Given the description of an element on the screen output the (x, y) to click on. 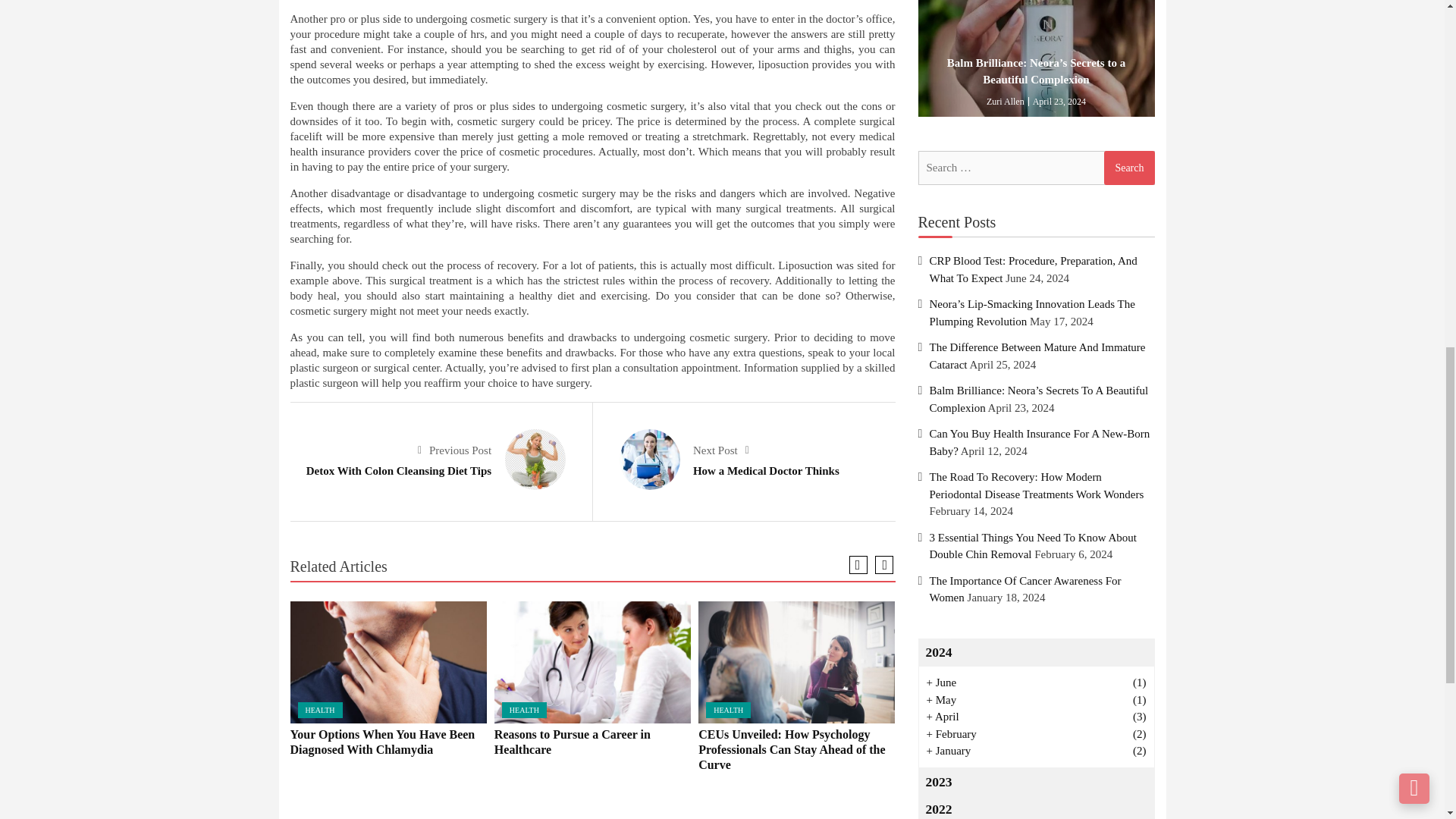
Your Options When You Have Been Diagnosed With Chlamydia (387, 662)
Reasons to Pursue a Career in Healthcare (592, 662)
Search (1128, 167)
Search (1128, 167)
